Given the description of an element on the screen output the (x, y) to click on. 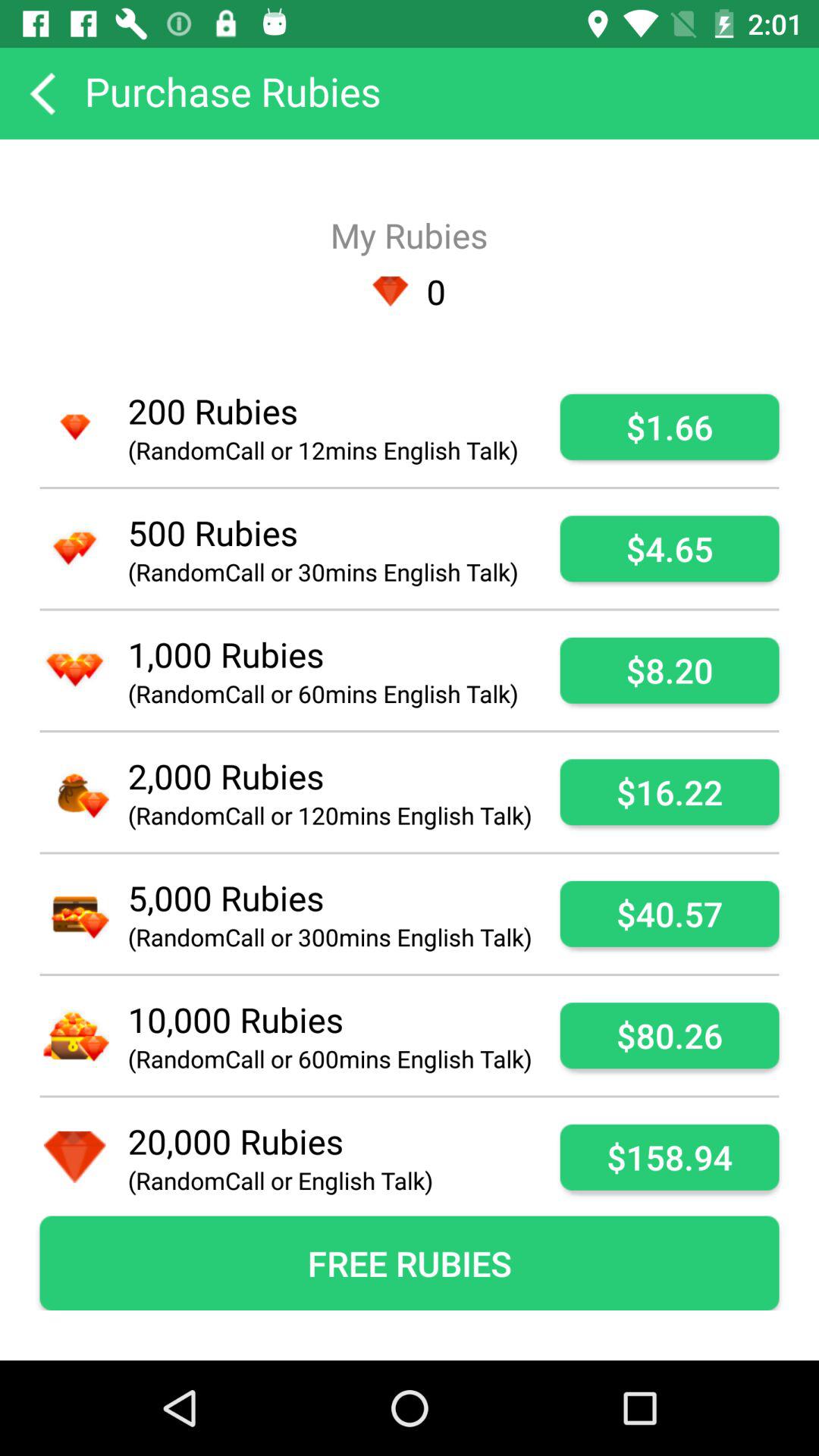
tap item to the left of the purchase rubies app (42, 93)
